Given the description of an element on the screen output the (x, y) to click on. 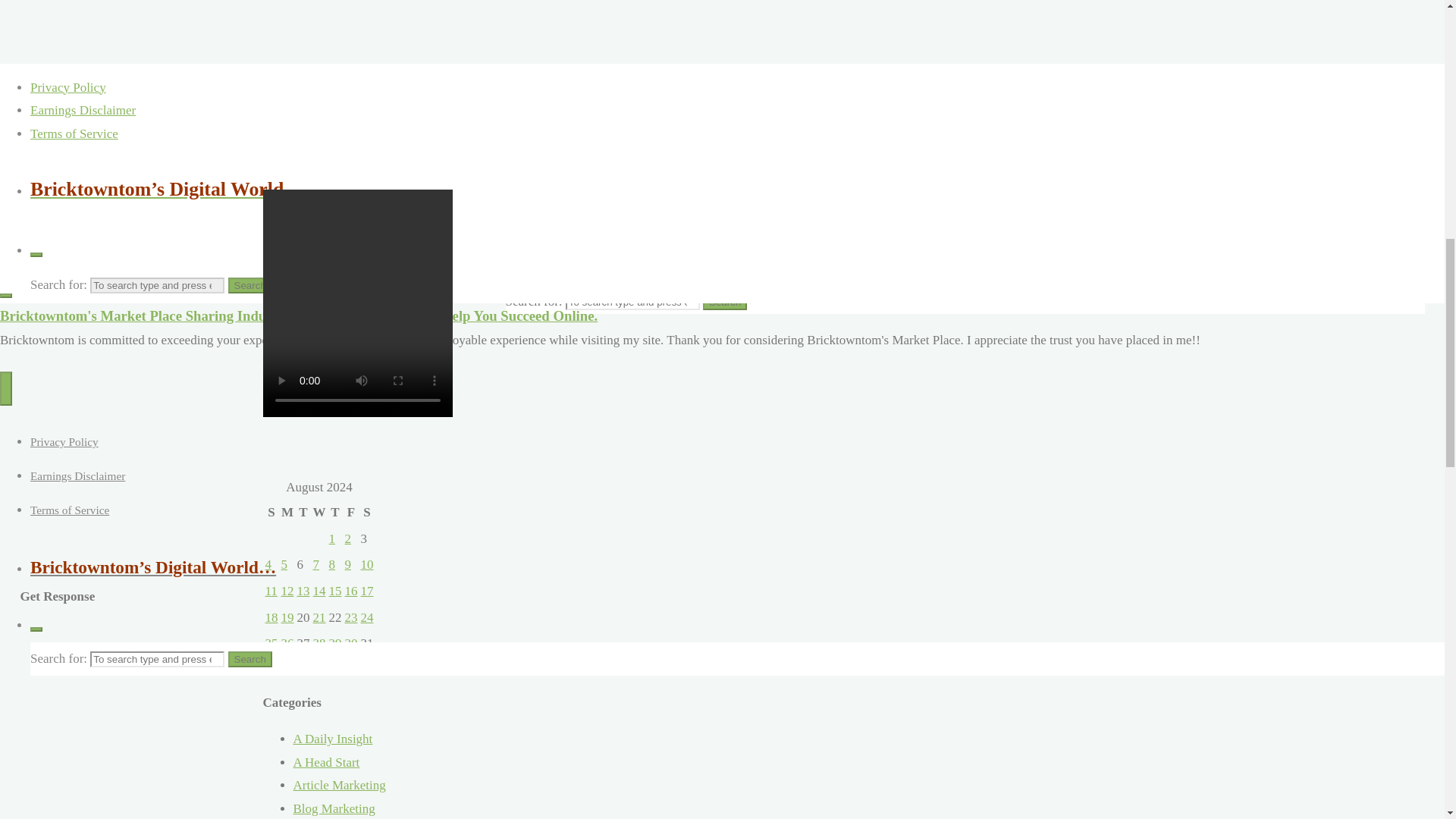
Home (264, 200)
14 (318, 590)
Search (724, 302)
Home (264, 200)
12 (287, 590)
10 (367, 564)
13 (303, 590)
15 (335, 590)
17 (367, 590)
16 (349, 590)
